Given the description of an element on the screen output the (x, y) to click on. 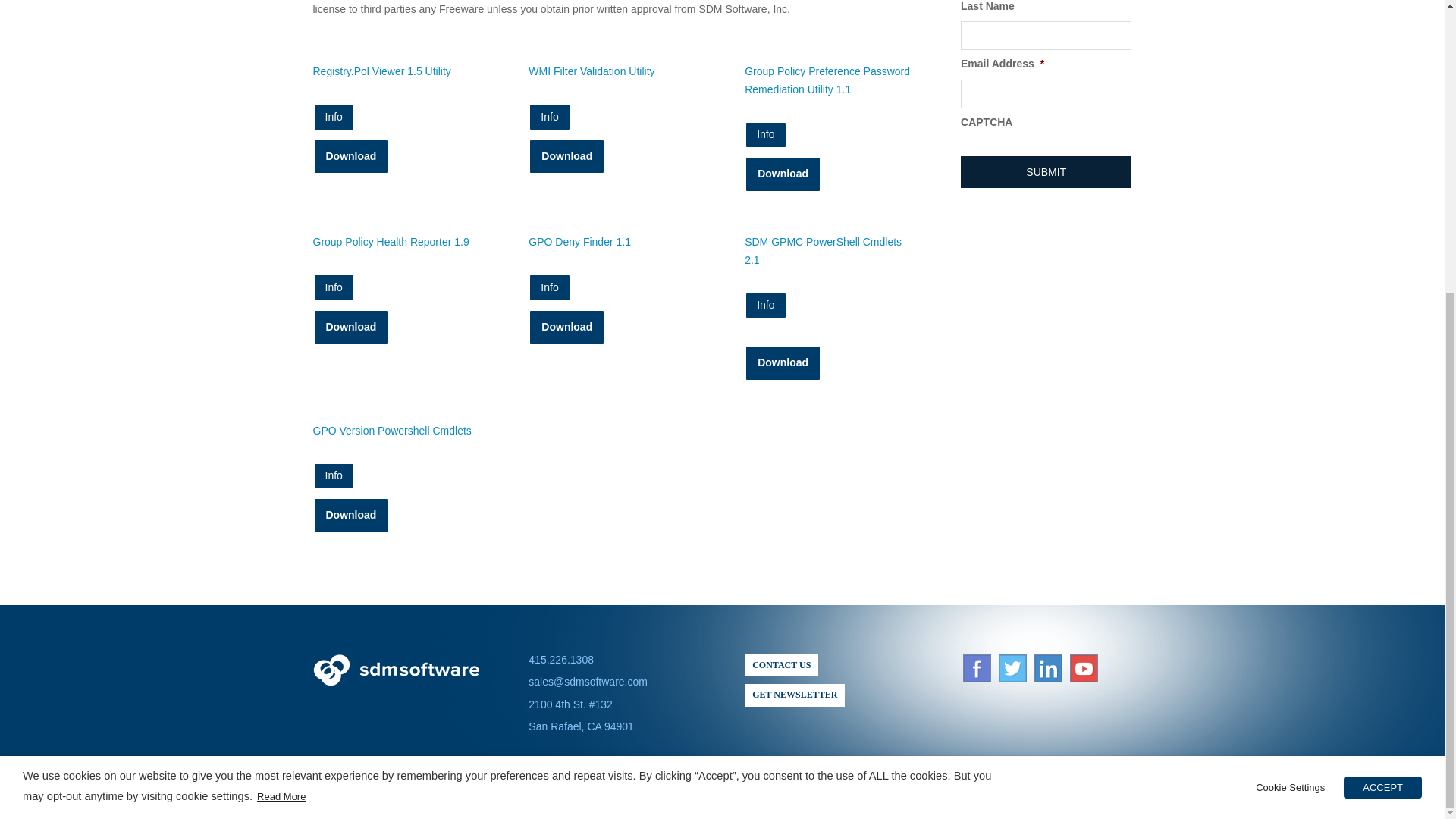
Group Policy Preference Password Remediation Utility (782, 174)
Group Policy Health Reporter 1.9 (350, 327)
Submit (1045, 172)
WMI Filter Validation Utility (566, 156)
Registry.Pol Viewer 1.5 Utility (350, 156)
